Given the description of an element on the screen output the (x, y) to click on. 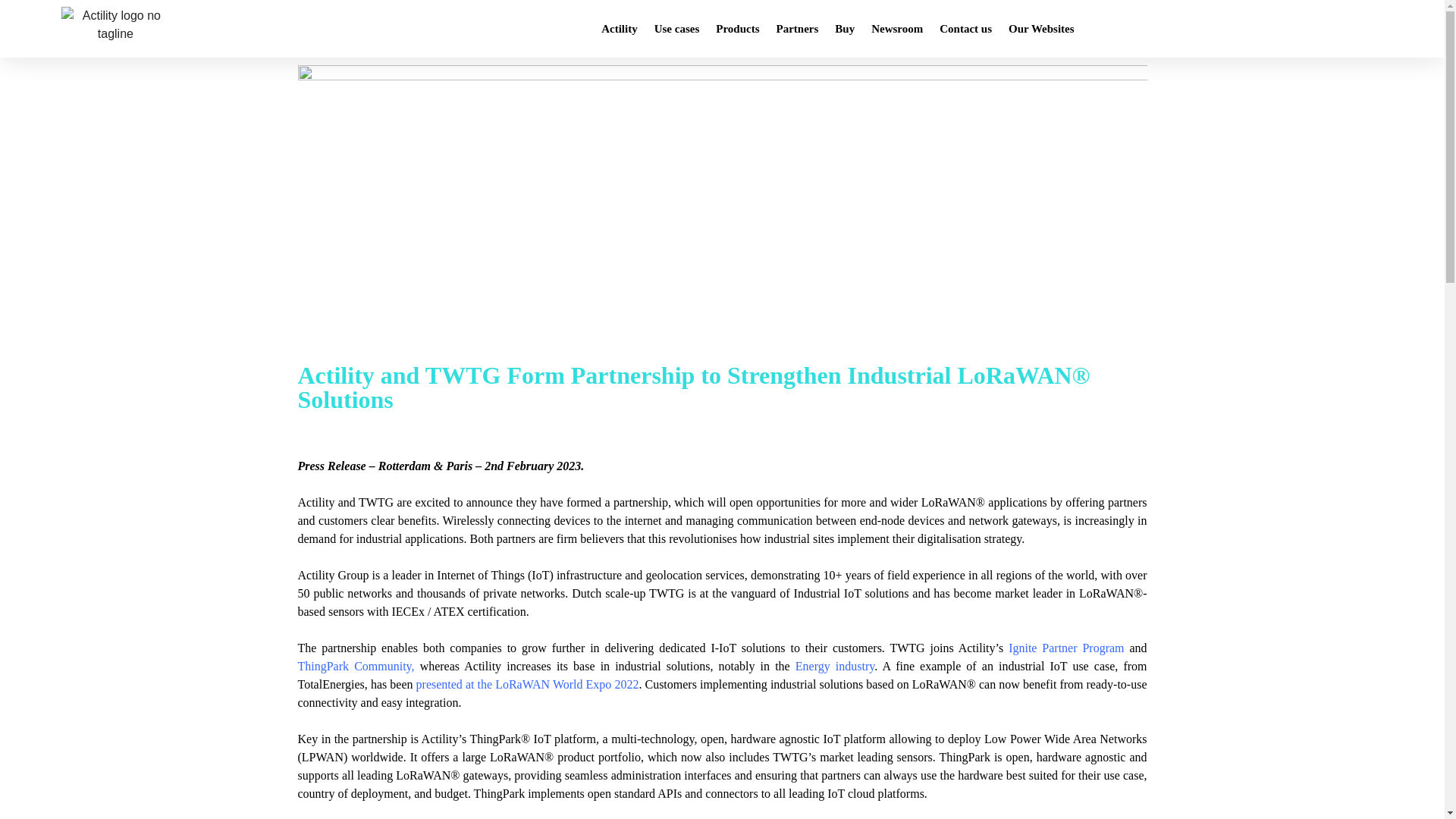
Partners (797, 28)
Actility (618, 28)
Buy (845, 28)
Products (737, 28)
Newsroom (897, 28)
Use cases (676, 28)
